Given the description of an element on the screen output the (x, y) to click on. 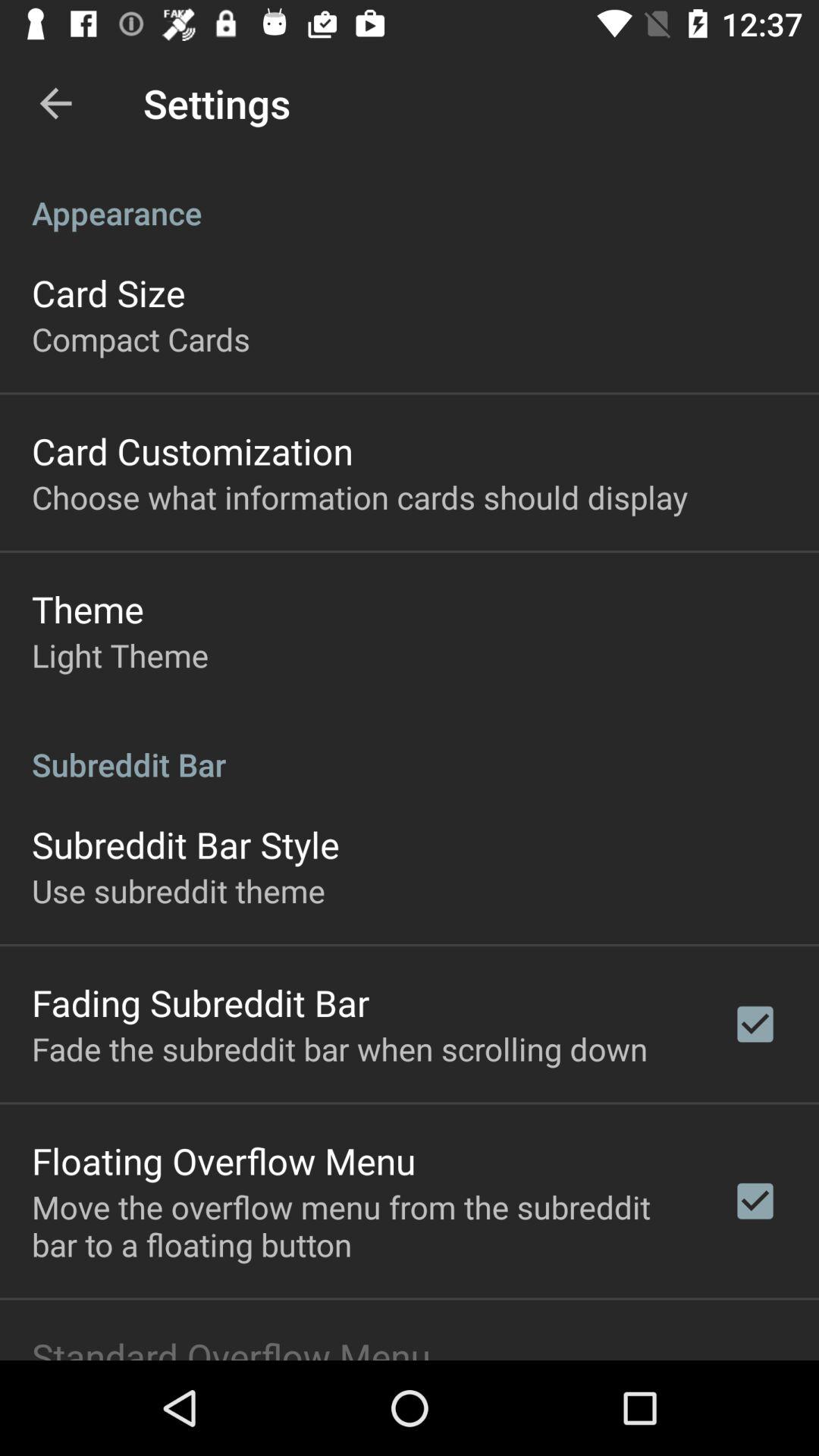
jump to choose what information item (359, 496)
